Given the description of an element on the screen output the (x, y) to click on. 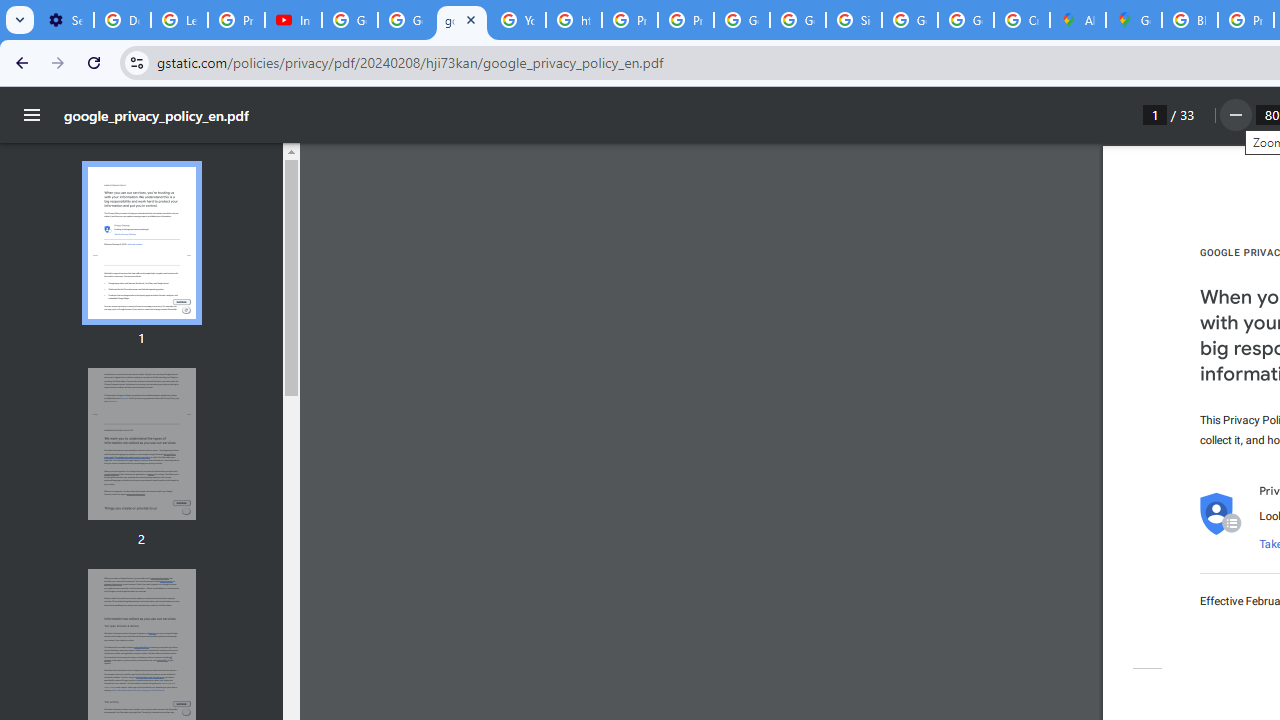
Create your Google Account (1021, 20)
Blogger Policies and Guidelines - Transparency Center (1190, 20)
Google Account Help (349, 20)
Delete photos & videos - Computer - Google Photos Help (122, 20)
YouTube (518, 20)
Menu (31, 115)
Privacy Help Center - Policies Help (629, 20)
https://scholar.google.com/ (573, 20)
AutomationID: thumbnail (141, 443)
Thumbnail for page 2 (141, 444)
Google Maps (1133, 20)
